Given the description of an element on the screen output the (x, y) to click on. 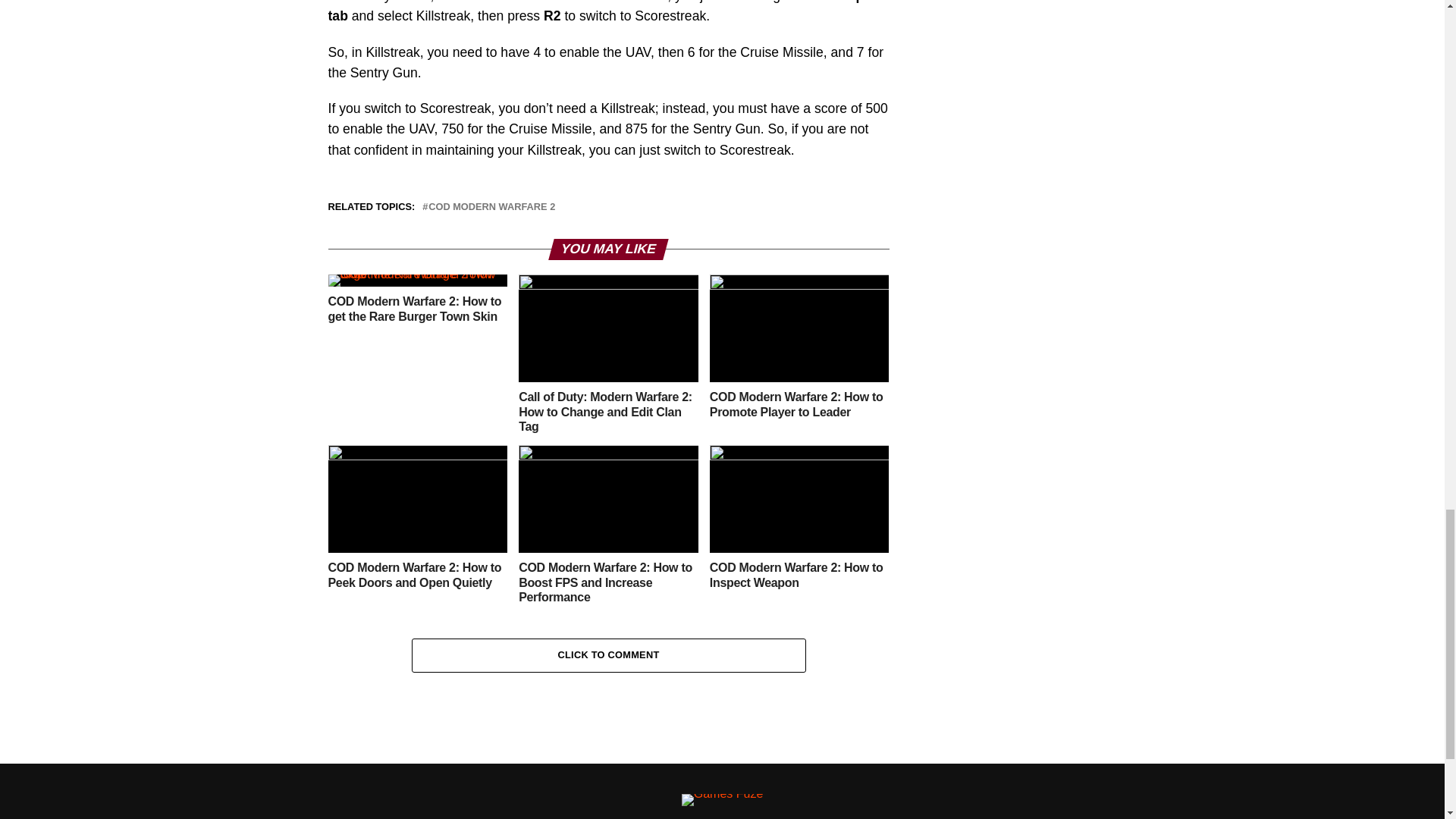
COD MODERN WARFARE 2 (491, 207)
